Given the description of an element on the screen output the (x, y) to click on. 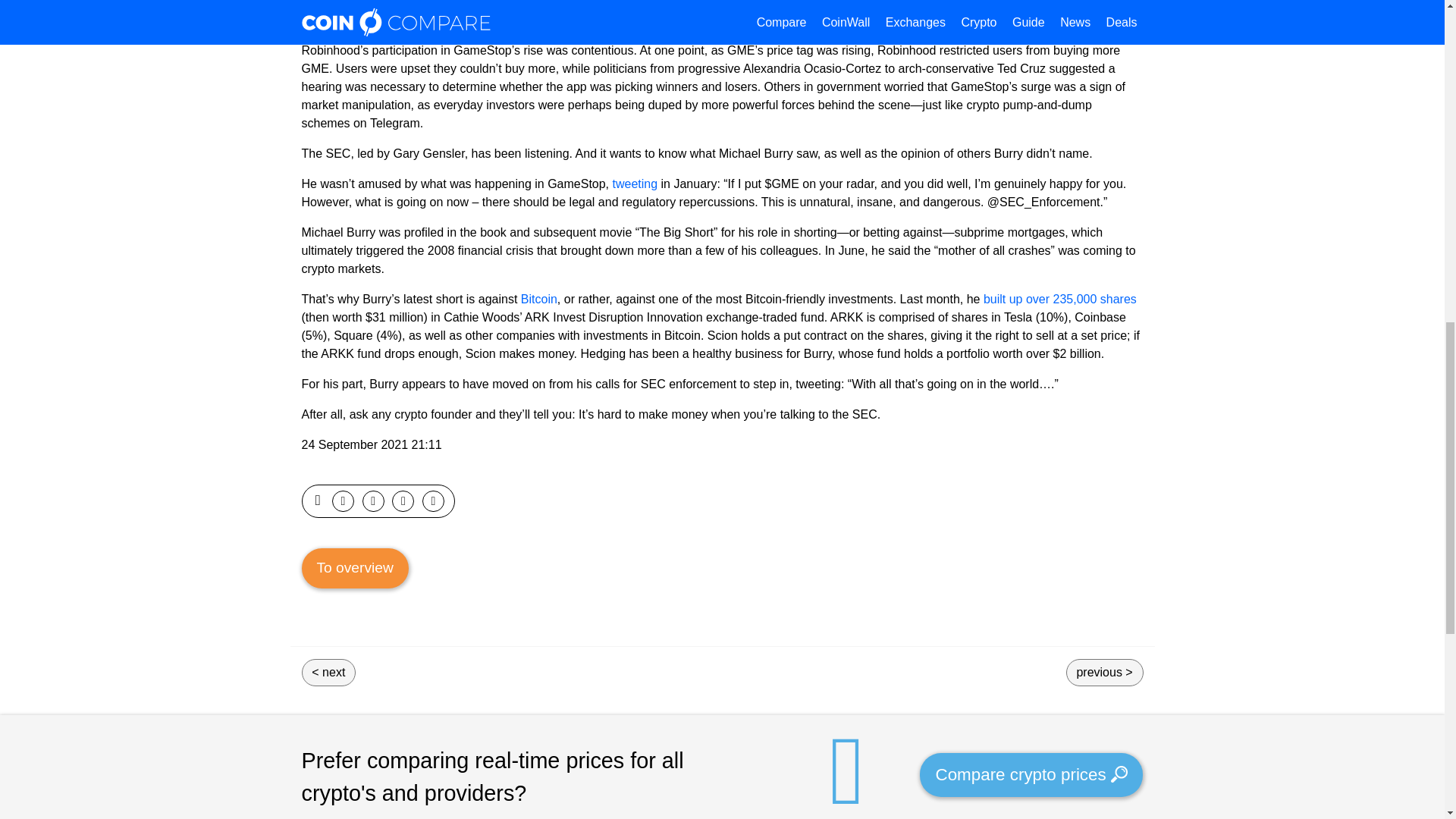
Coinbase (832, 4)
Bitcoin (539, 298)
To overview (355, 567)
tweeting (635, 183)
Compare crypto prices (1031, 774)
built up over 235,000 shares (1057, 298)
